Given the description of an element on the screen output the (x, y) to click on. 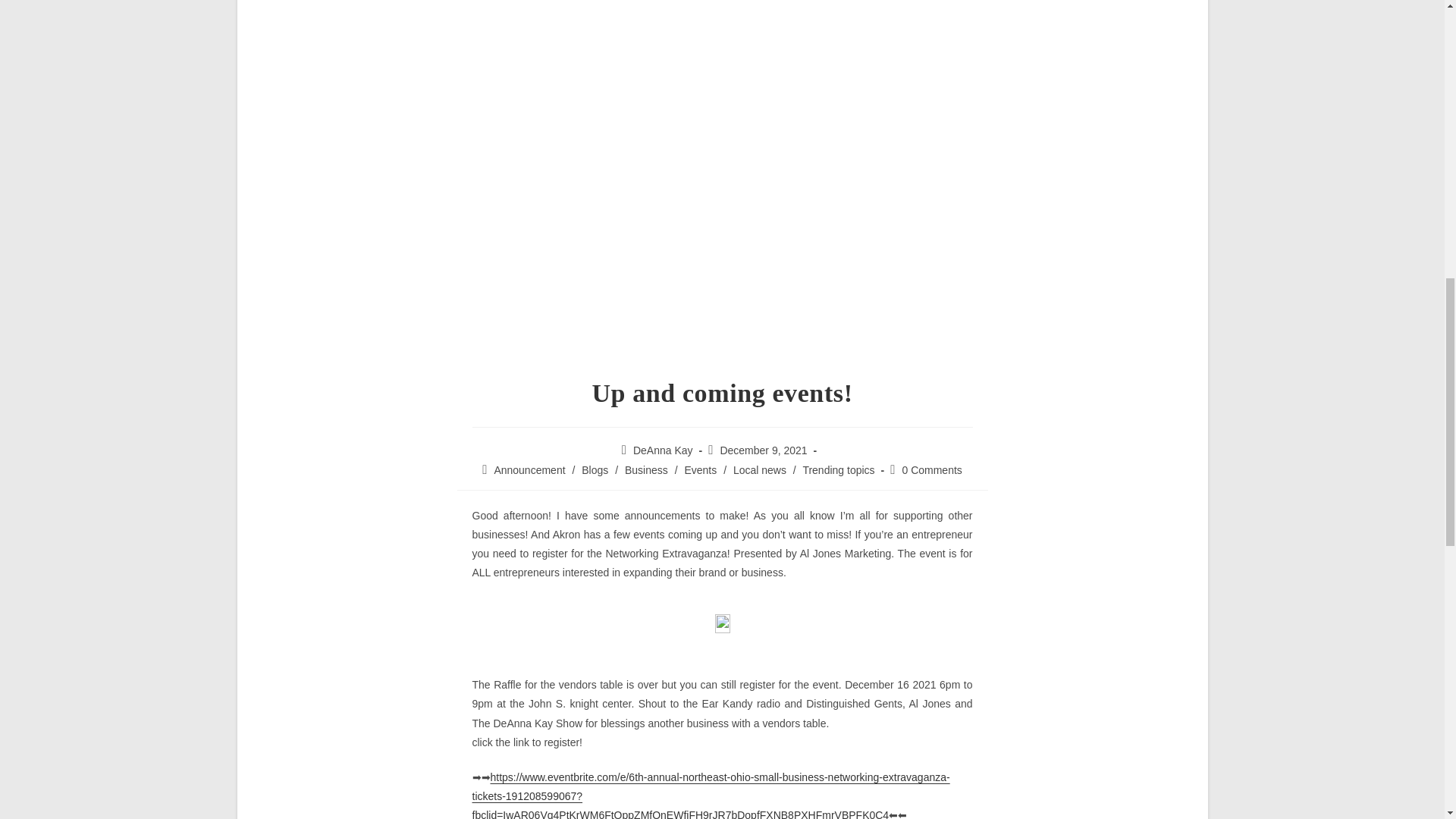
Blogs (594, 469)
Posts by DeAnna Kay (663, 450)
0 Comments (930, 469)
Trending topics (838, 469)
Events (700, 469)
Business (646, 469)
Local news (759, 469)
DeAnna Kay (663, 450)
Announcement (528, 469)
